Given the description of an element on the screen output the (x, y) to click on. 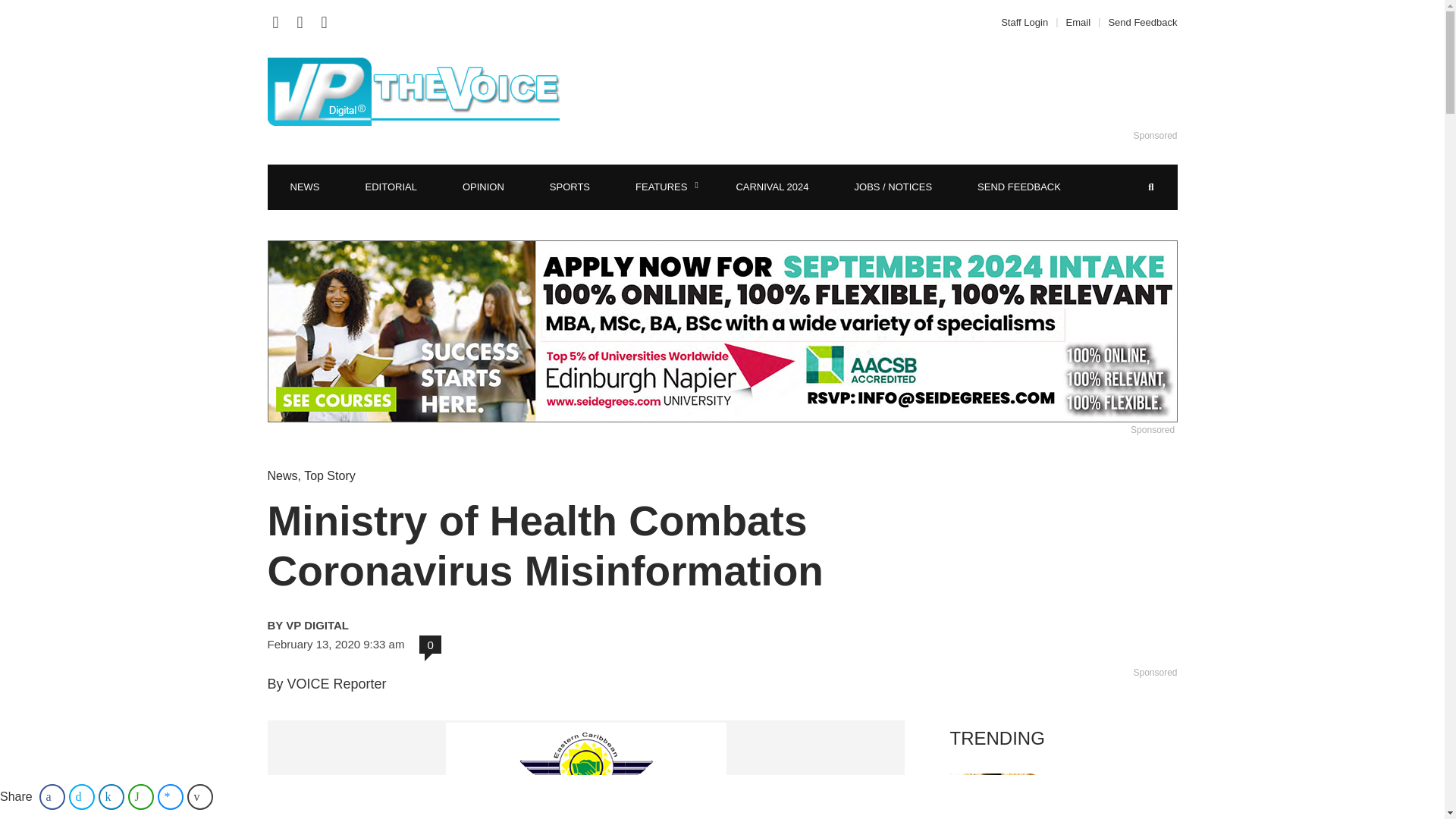
VP DIGITAL (422, 625)
SPORTS (569, 186)
FEATURES (662, 186)
Advertisement (906, 91)
SEND FEEDBACK (1019, 186)
View all posts by VP Digital (422, 625)
News (281, 475)
OPINION (483, 186)
Top Story (329, 475)
NEWS (304, 186)
Send Feedback (1138, 21)
CARNIVAL 2024 (772, 186)
Staff Login (1028, 21)
Email (1078, 21)
EDITORIAL (390, 186)
